Given the description of an element on the screen output the (x, y) to click on. 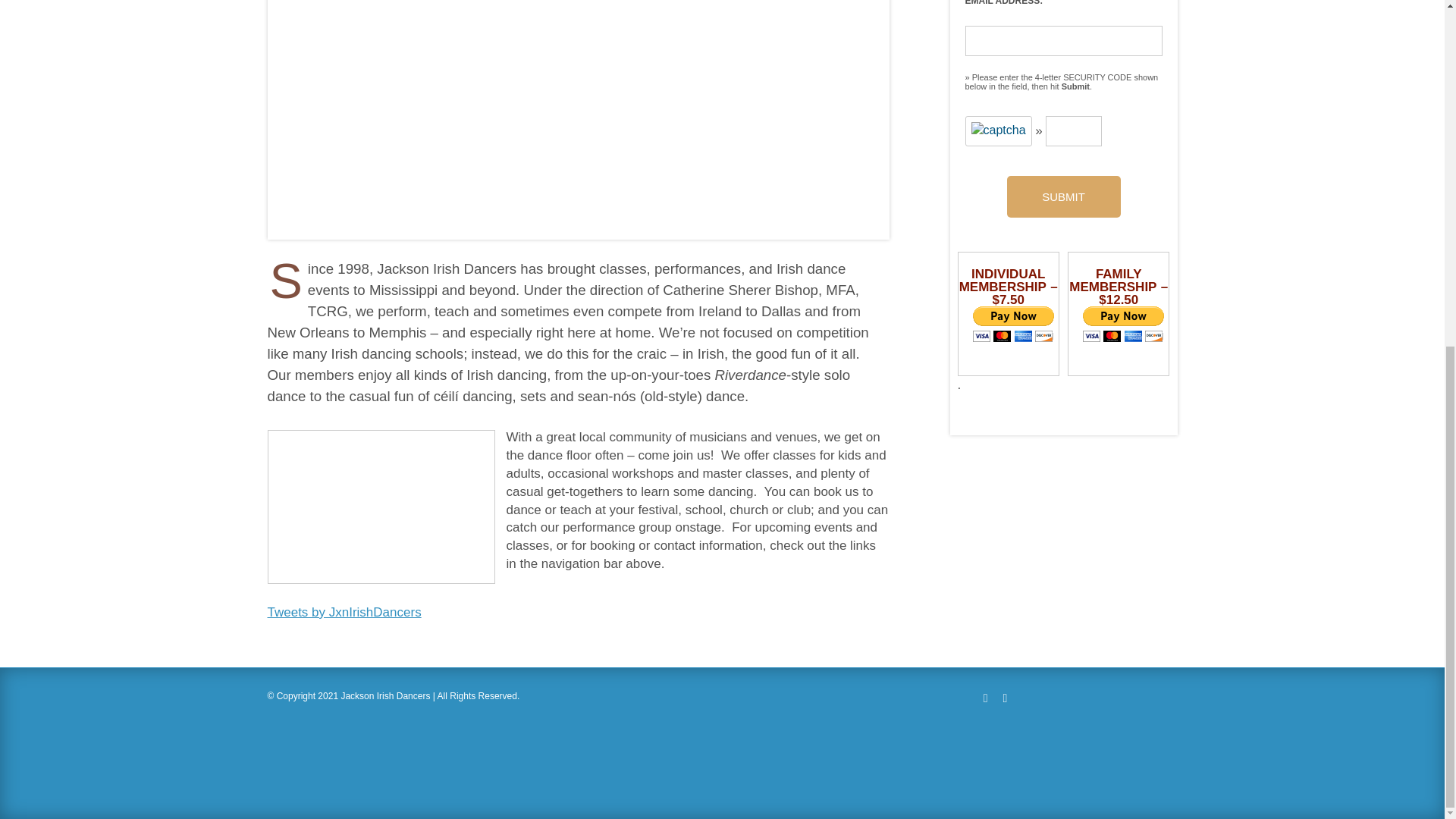
SUBMIT (1064, 196)
Jackson Irish Dancers - by Josh Haley (380, 506)
SUBMIT (1064, 196)
Tweets by JxnIrishDancers (343, 612)
Tweets by JxnIrishDancers (577, 619)
